Given the description of an element on the screen output the (x, y) to click on. 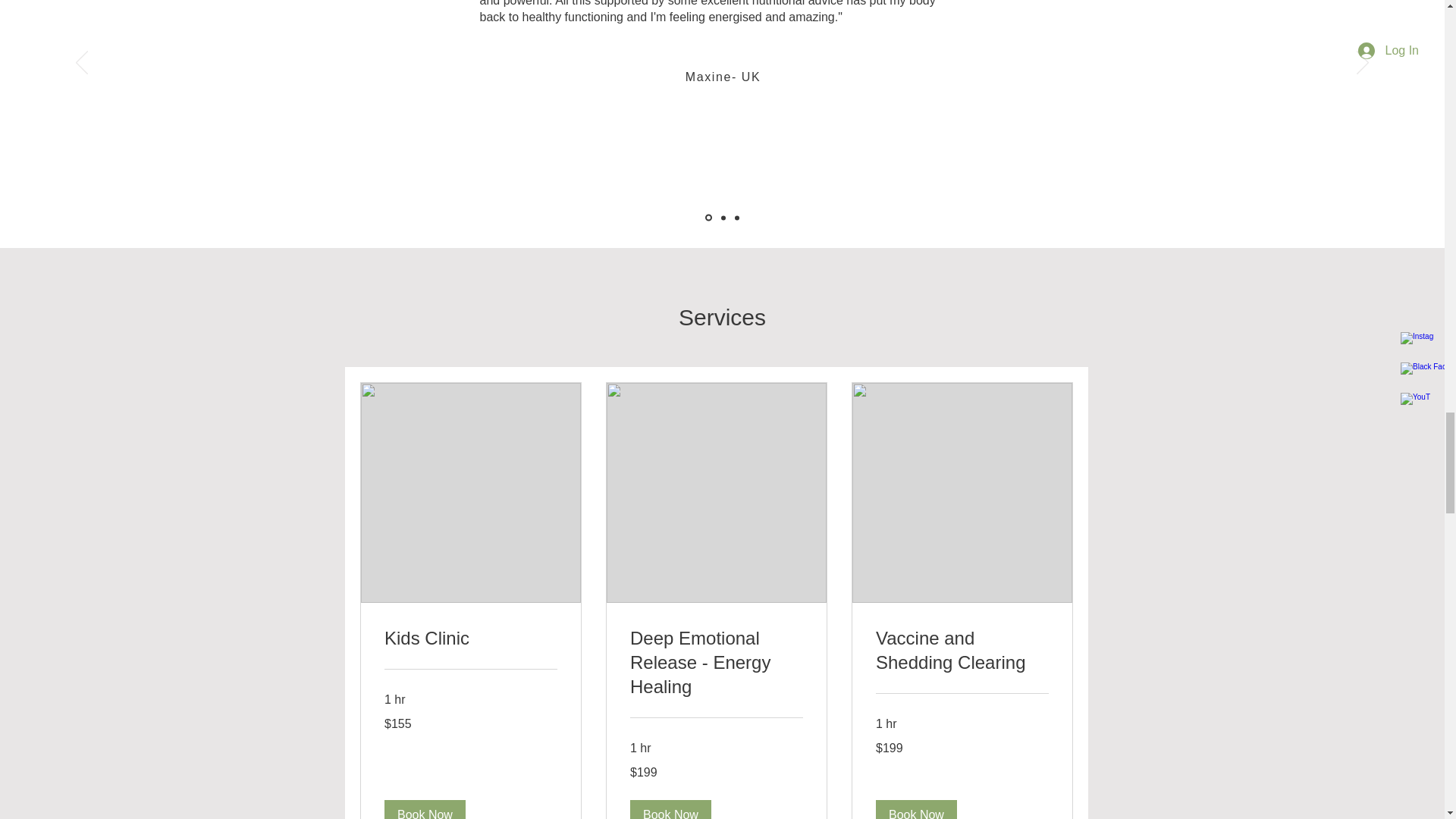
Kids Clinic (470, 638)
Deep Emotional Release - Energy Healing (715, 662)
Book Now (424, 809)
Book Now (915, 809)
Vaccine and Shedding Clearing (961, 650)
Book Now (669, 809)
